Given the description of an element on the screen output the (x, y) to click on. 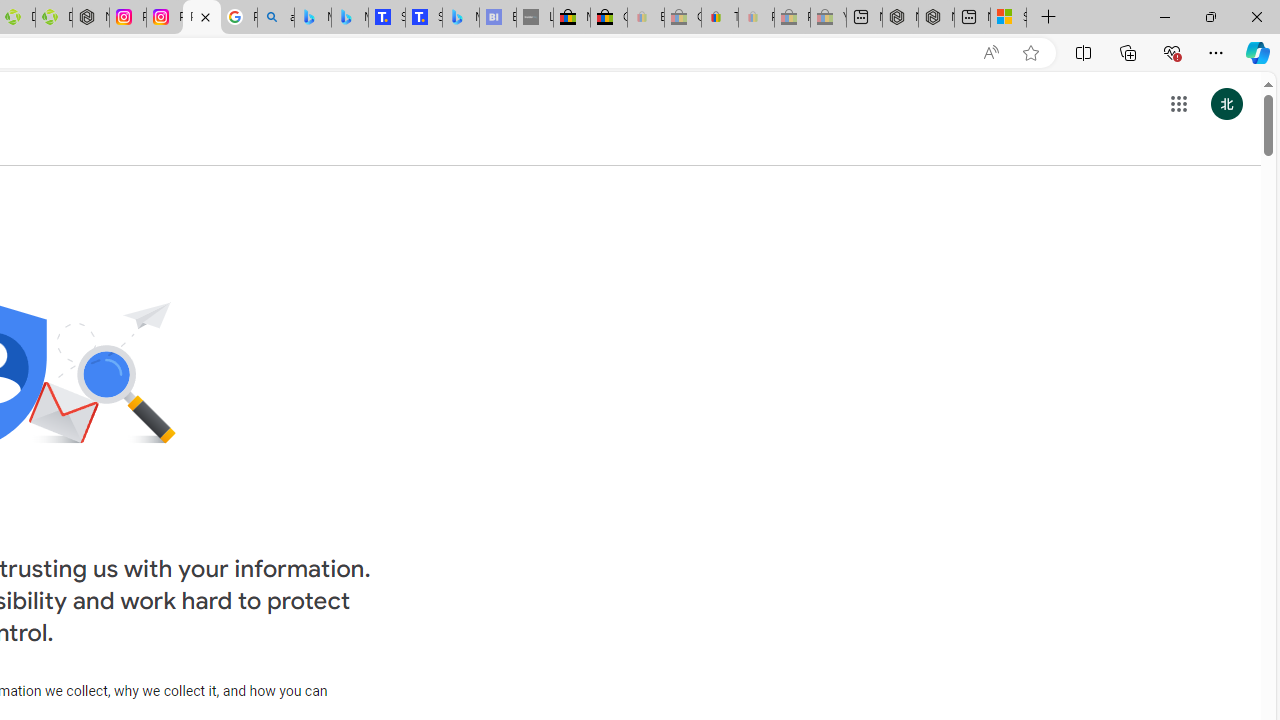
Payments Terms of Use | eBay.com - Sleeping (756, 17)
Descarga Driver Updater (53, 17)
Press Room - eBay Inc. - Sleeping (792, 17)
alabama high school quarterback dies - Search (276, 17)
